Given the description of an element on the screen output the (x, y) to click on. 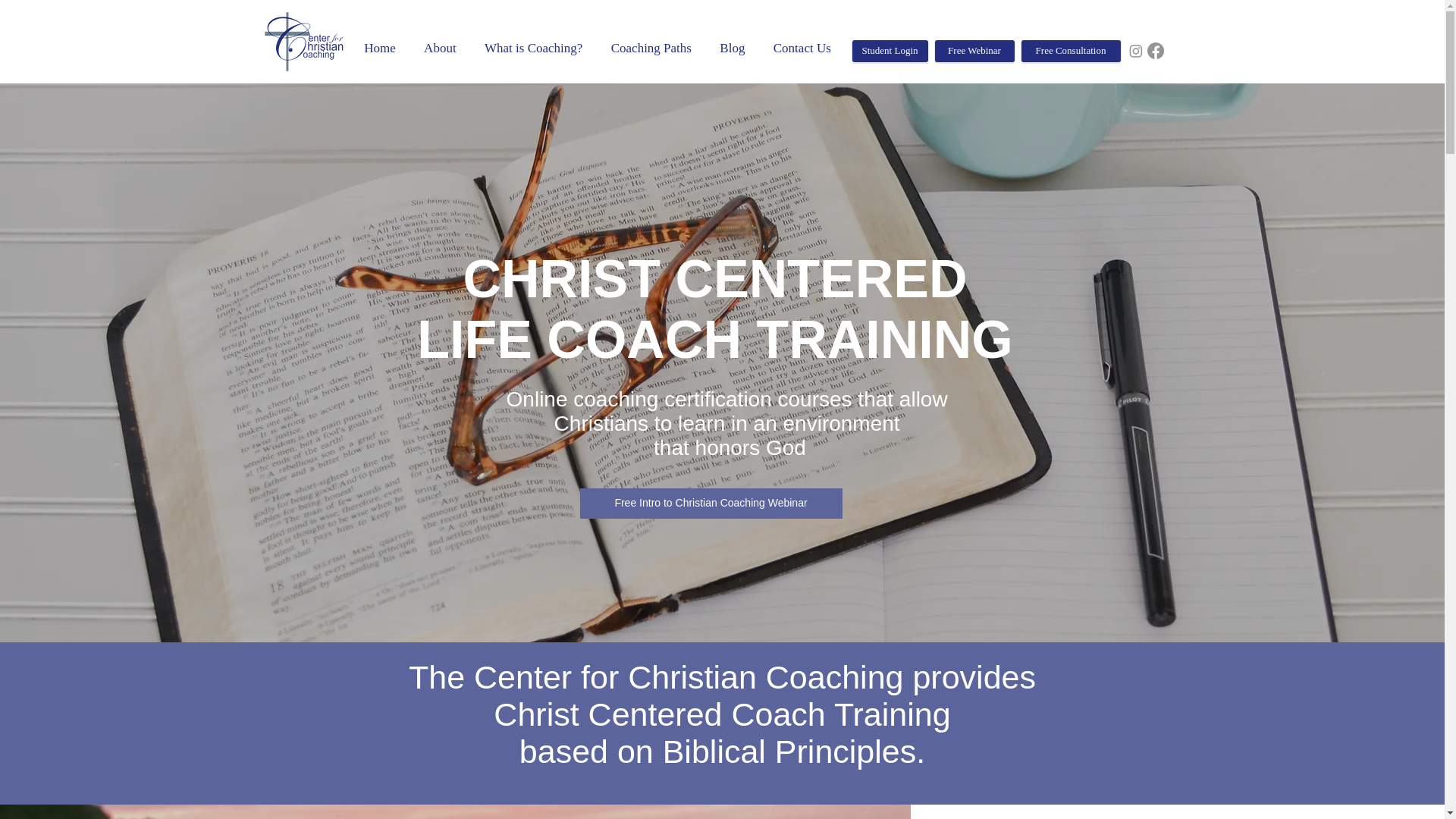
Free Webinar (973, 51)
Home (380, 48)
About (439, 48)
What is Coaching? (533, 48)
Free Intro to Christian Coaching Webinar (710, 503)
Coaching Paths (651, 48)
Blog (732, 48)
Free Consultation (1069, 51)
Student Login (889, 51)
Contact Us (801, 48)
